Given the description of an element on the screen output the (x, y) to click on. 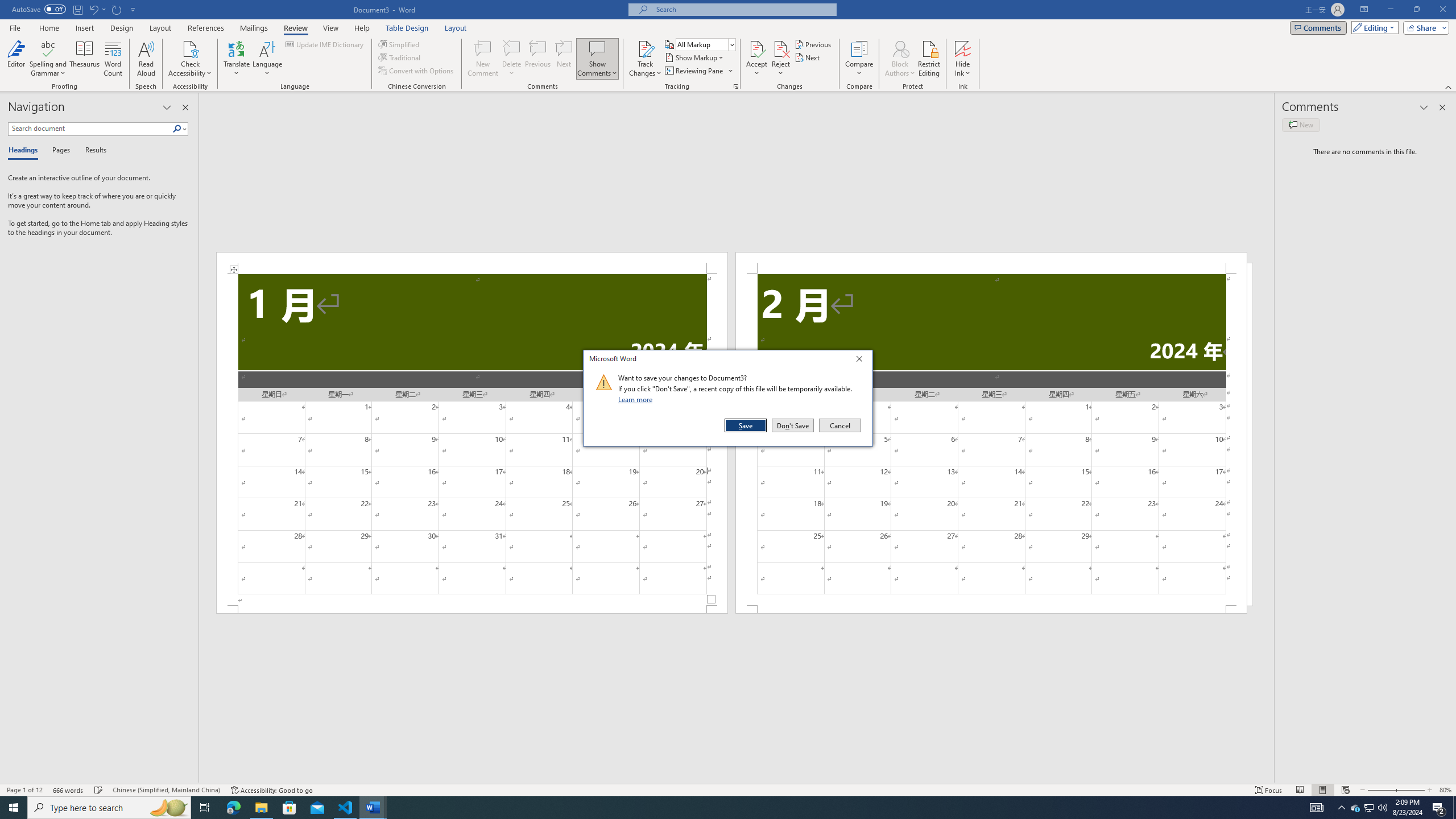
Undo Increase Indent (92, 9)
Accept and Move to Next (756, 48)
Repeat Doc Close (117, 9)
Visual Studio Code - 1 running window (345, 807)
Block Authors (900, 58)
Language (267, 58)
Accessibility Checker Accessibility: Good to go (271, 790)
Change Tracking Options... (735, 85)
Microsoft Store (289, 807)
Track Changes (644, 58)
